Given the description of an element on the screen output the (x, y) to click on. 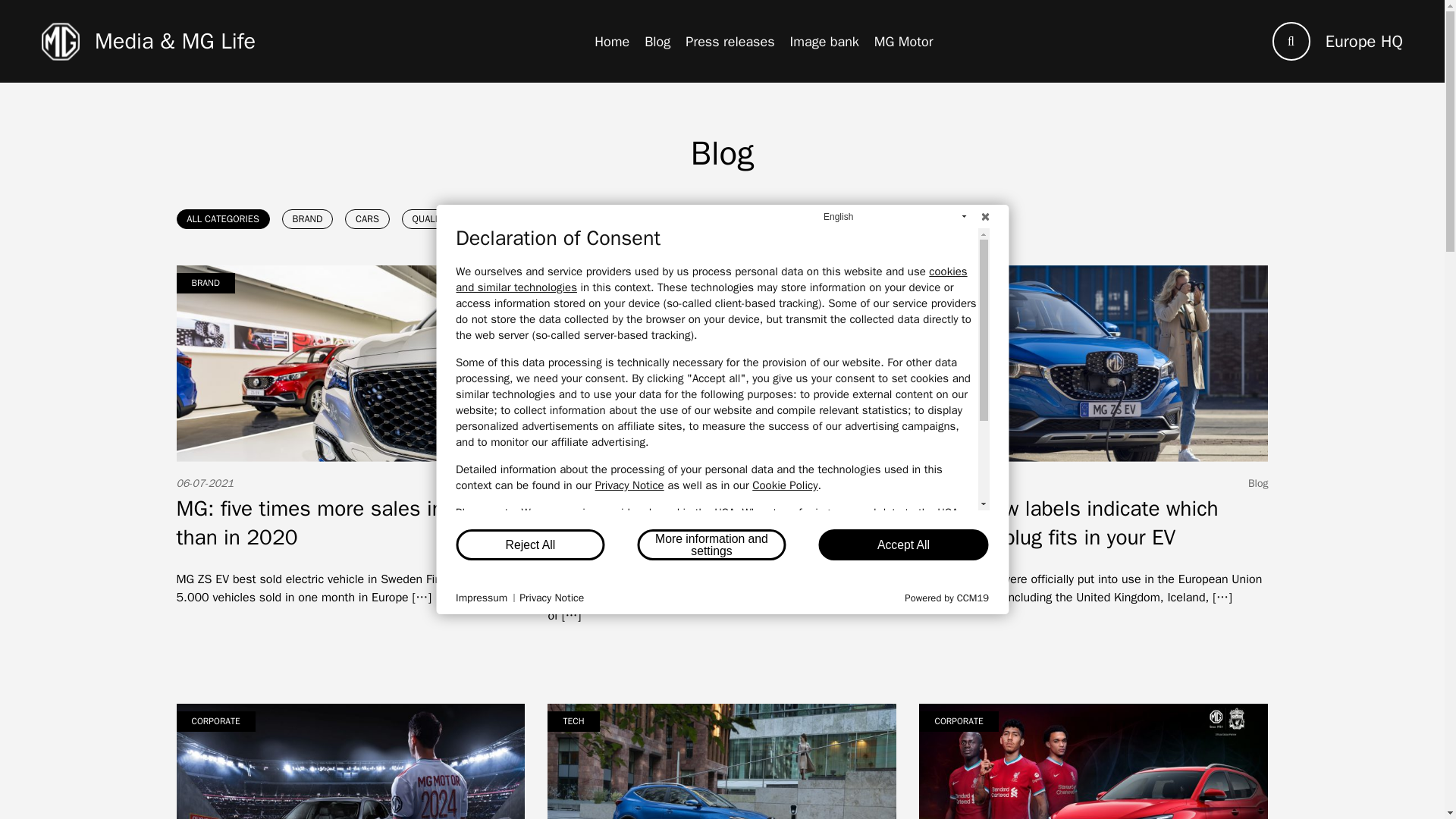
BRAND (307, 219)
CORPORATE (561, 219)
Blog (657, 41)
Home (611, 41)
Search (1292, 41)
Close (984, 216)
Image bank (824, 41)
QUALITY (429, 219)
TECH (491, 219)
CARS (367, 219)
ALL CATEGORIES (222, 219)
MG Motor (904, 41)
Press releases (729, 41)
